Given the description of an element on the screen output the (x, y) to click on. 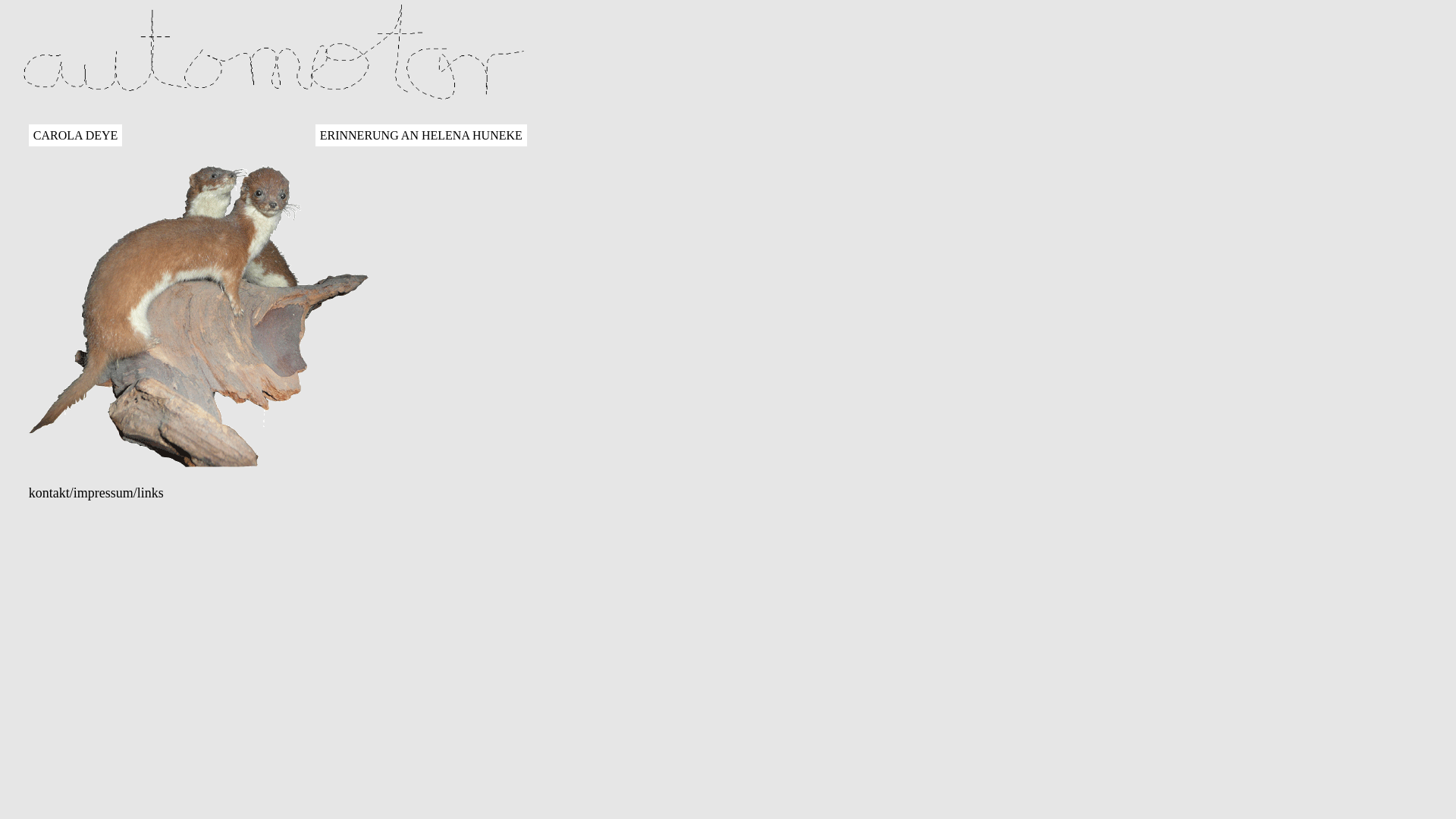
kontakt/impressum/links Element type: text (95, 492)
ERINNERUNG AN HELENA HUNEKE Element type: text (421, 135)
CAROLA DEYE Element type: text (75, 135)
